Given the description of an element on the screen output the (x, y) to click on. 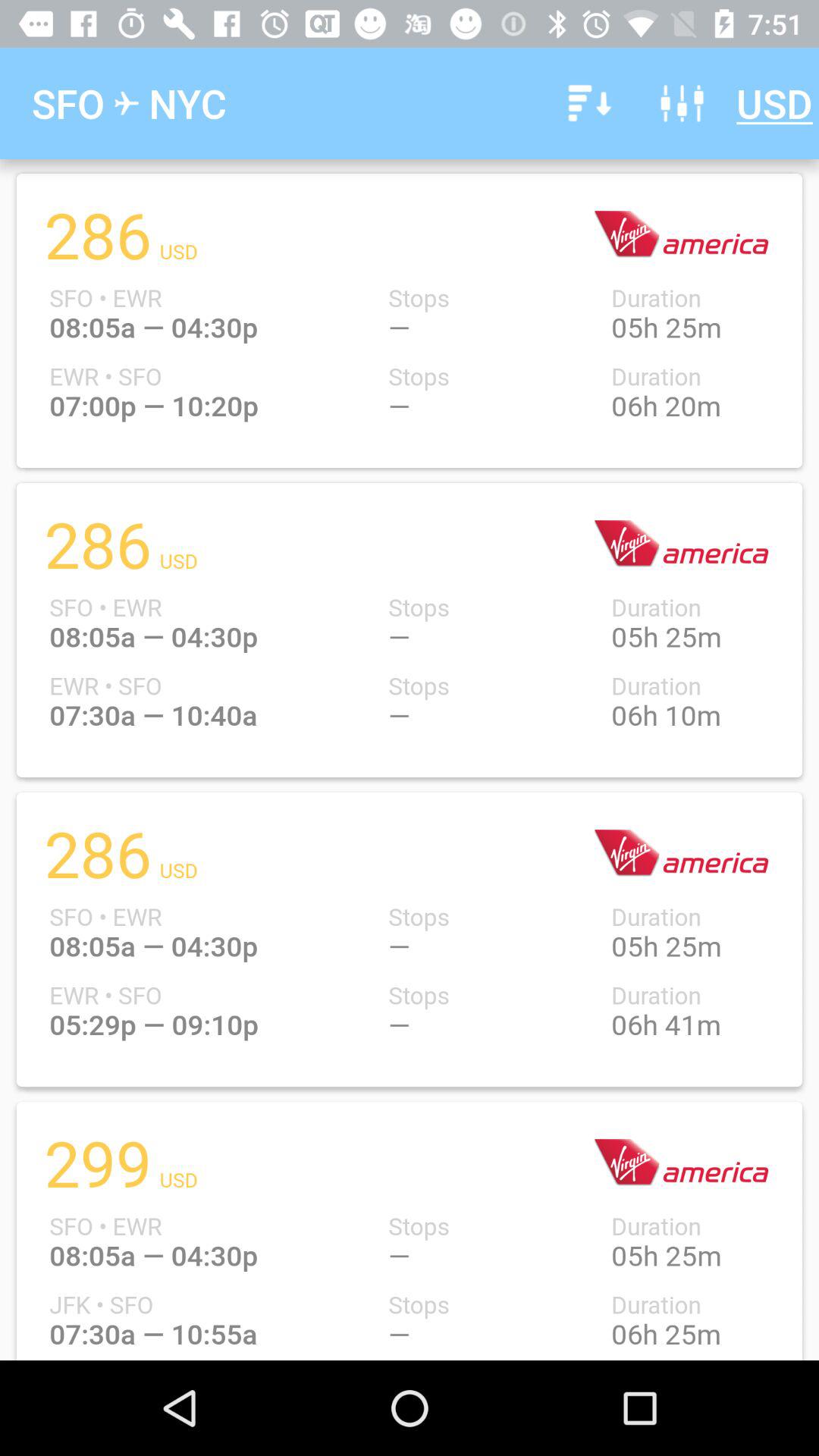
click item to the left of usd icon (682, 103)
